Given the description of an element on the screen output the (x, y) to click on. 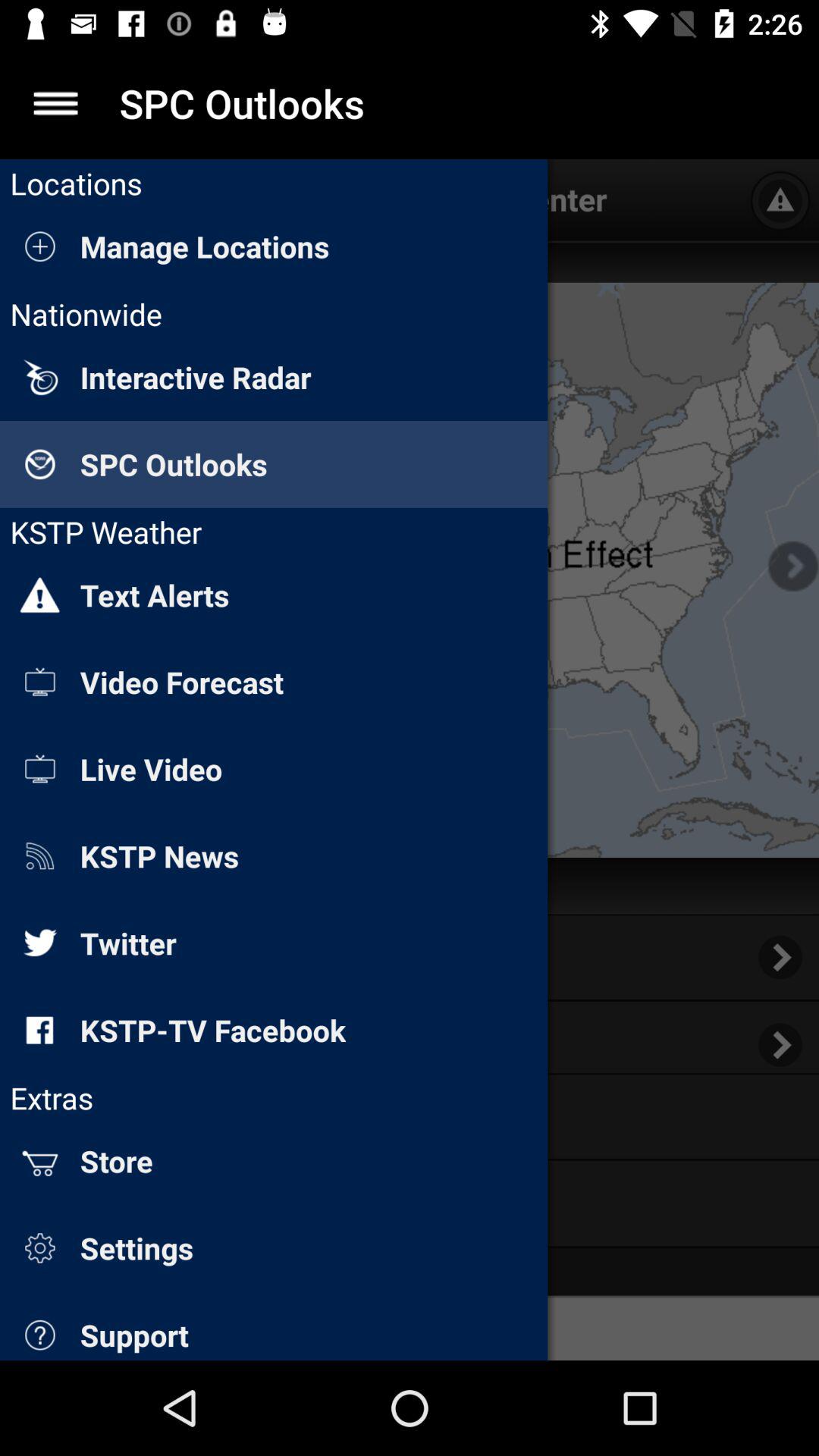
open the app next to spc outlooks item (55, 103)
